Given the description of an element on the screen output the (x, y) to click on. 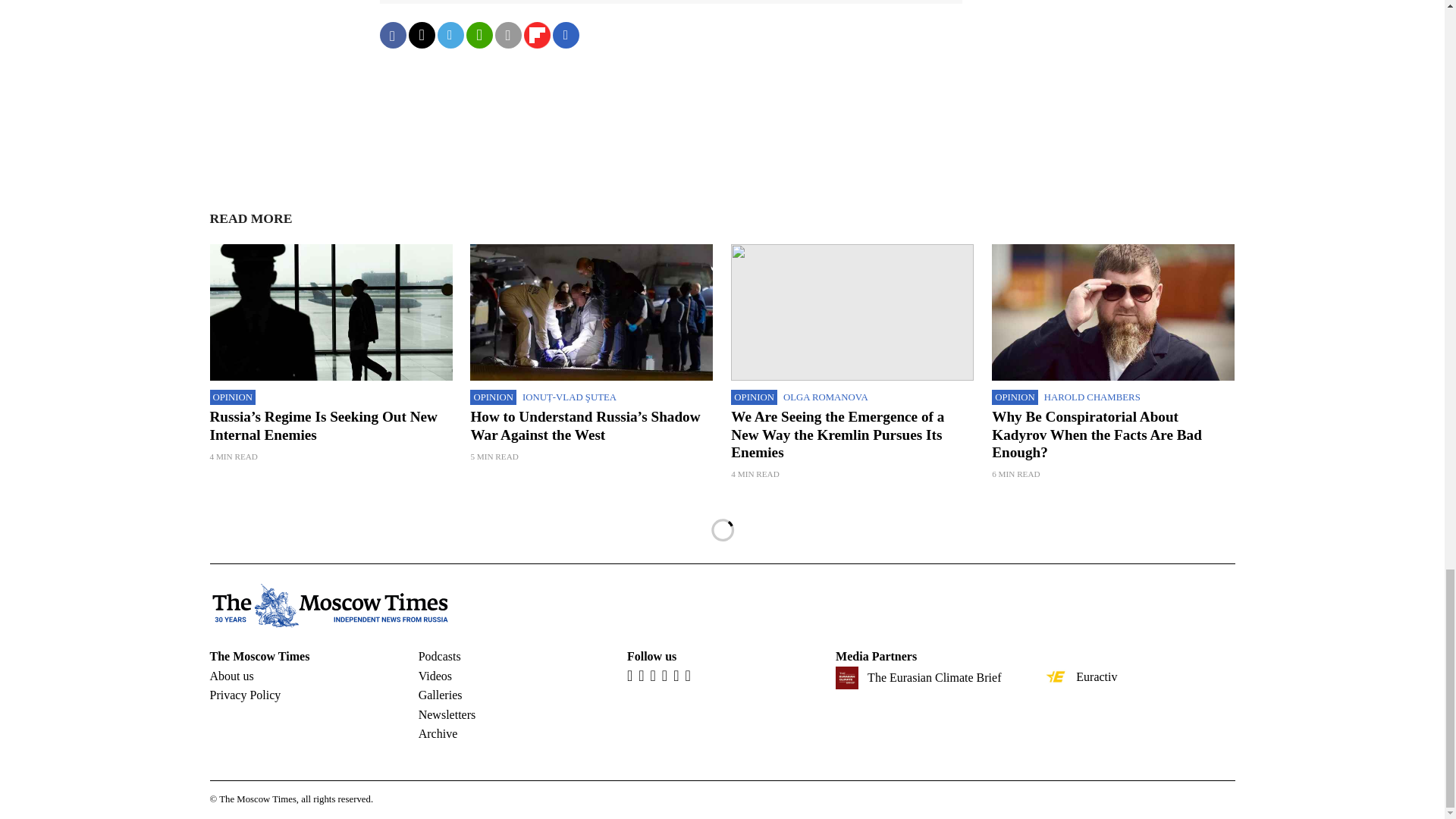
Download as PDF (565, 35)
Share on Twitter (420, 35)
Share with email (508, 35)
Share on Telegram (449, 35)
Share on WhatsApp (478, 35)
Share on Flipboard (536, 35)
Share on Facebook (392, 35)
